Given the description of an element on the screen output the (x, y) to click on. 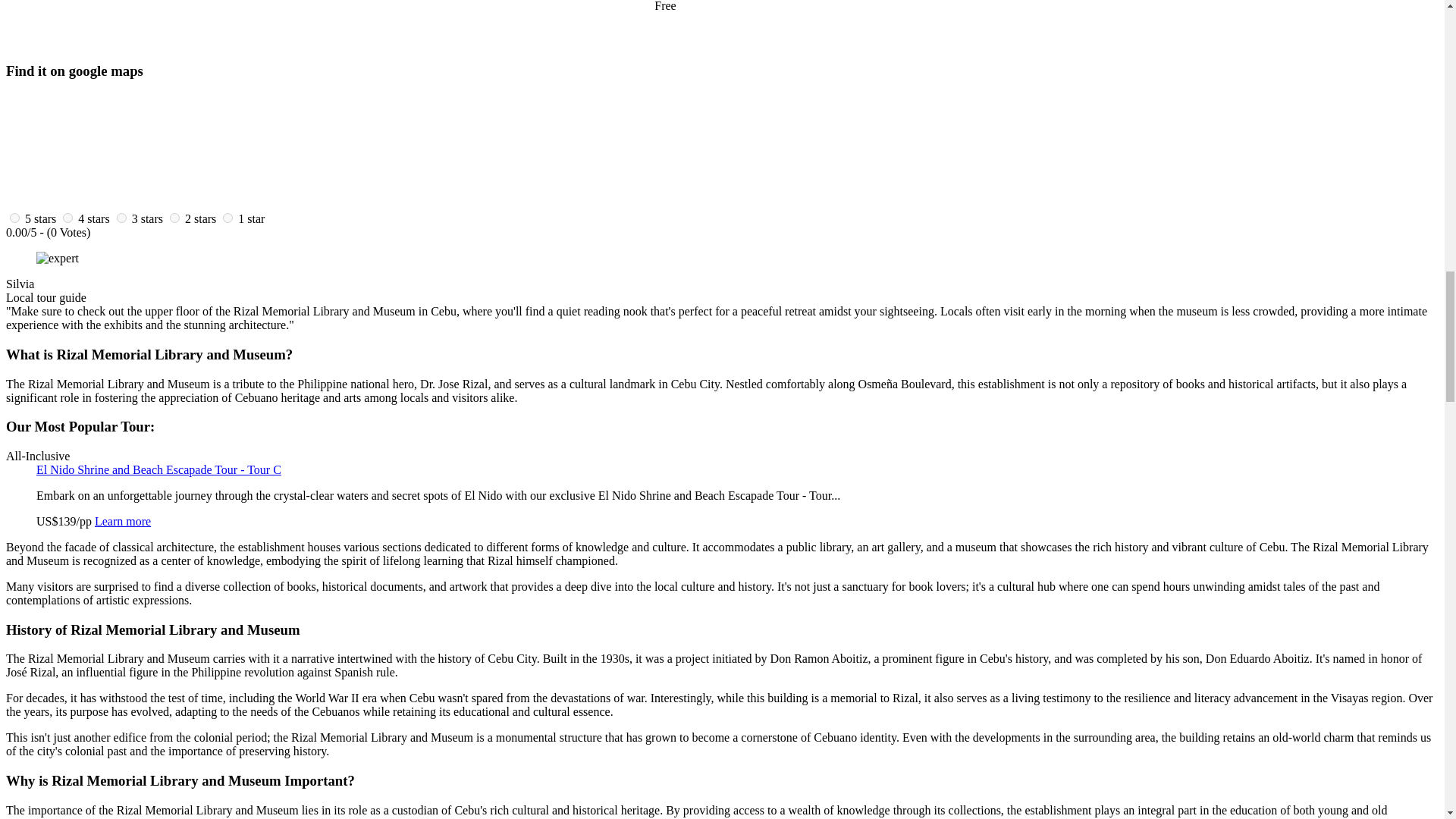
4 (67, 217)
2 (174, 217)
5 stars (40, 218)
4 stars (93, 218)
5 (15, 217)
2 stars (199, 218)
3 (121, 217)
1 stars (251, 218)
1 (227, 217)
3 stars (147, 218)
